Given the description of an element on the screen output the (x, y) to click on. 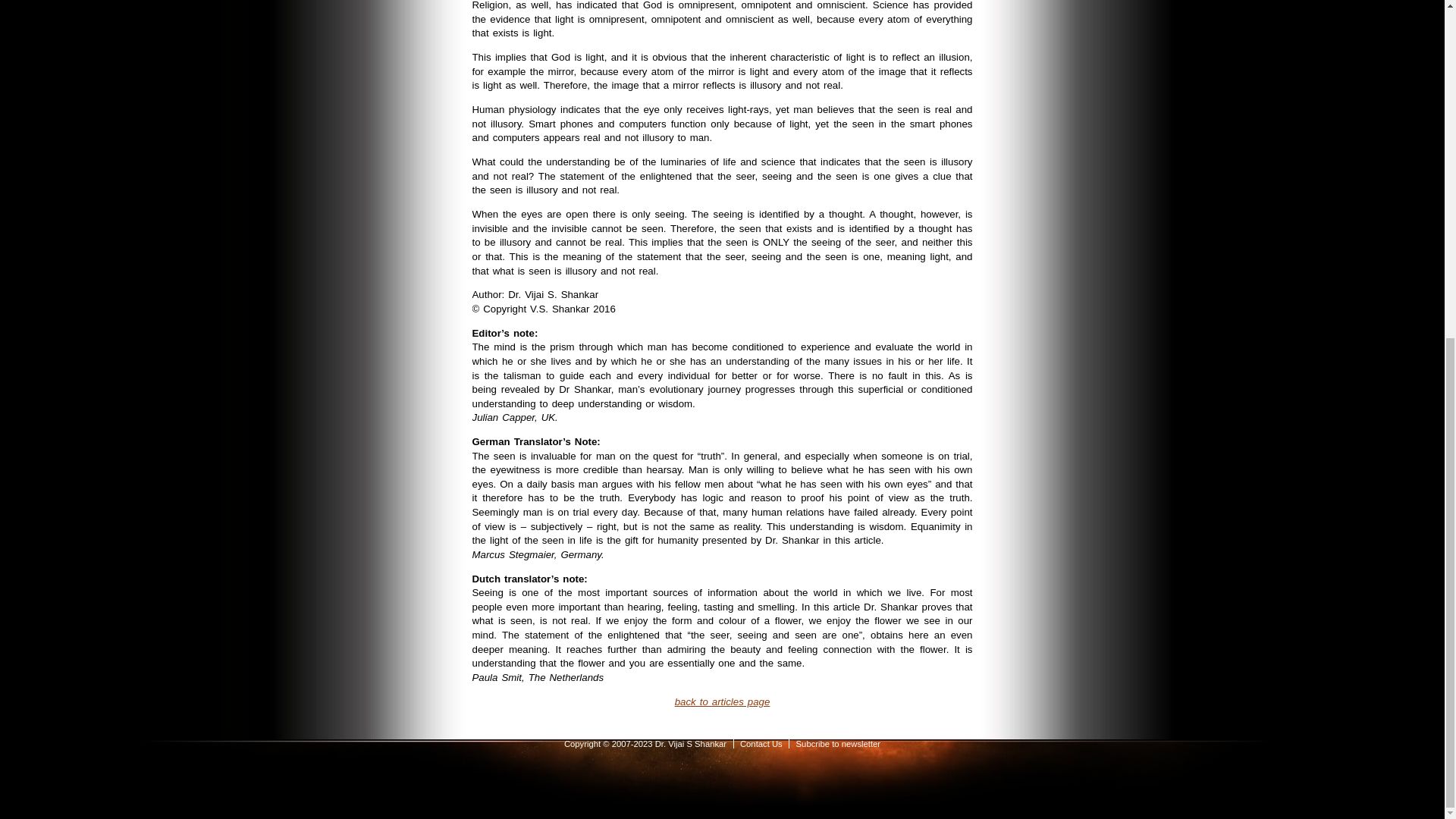
Subcribe to newsletter (838, 743)
back to articles page (722, 700)
Contact Us (761, 743)
